Given the description of an element on the screen output the (x, y) to click on. 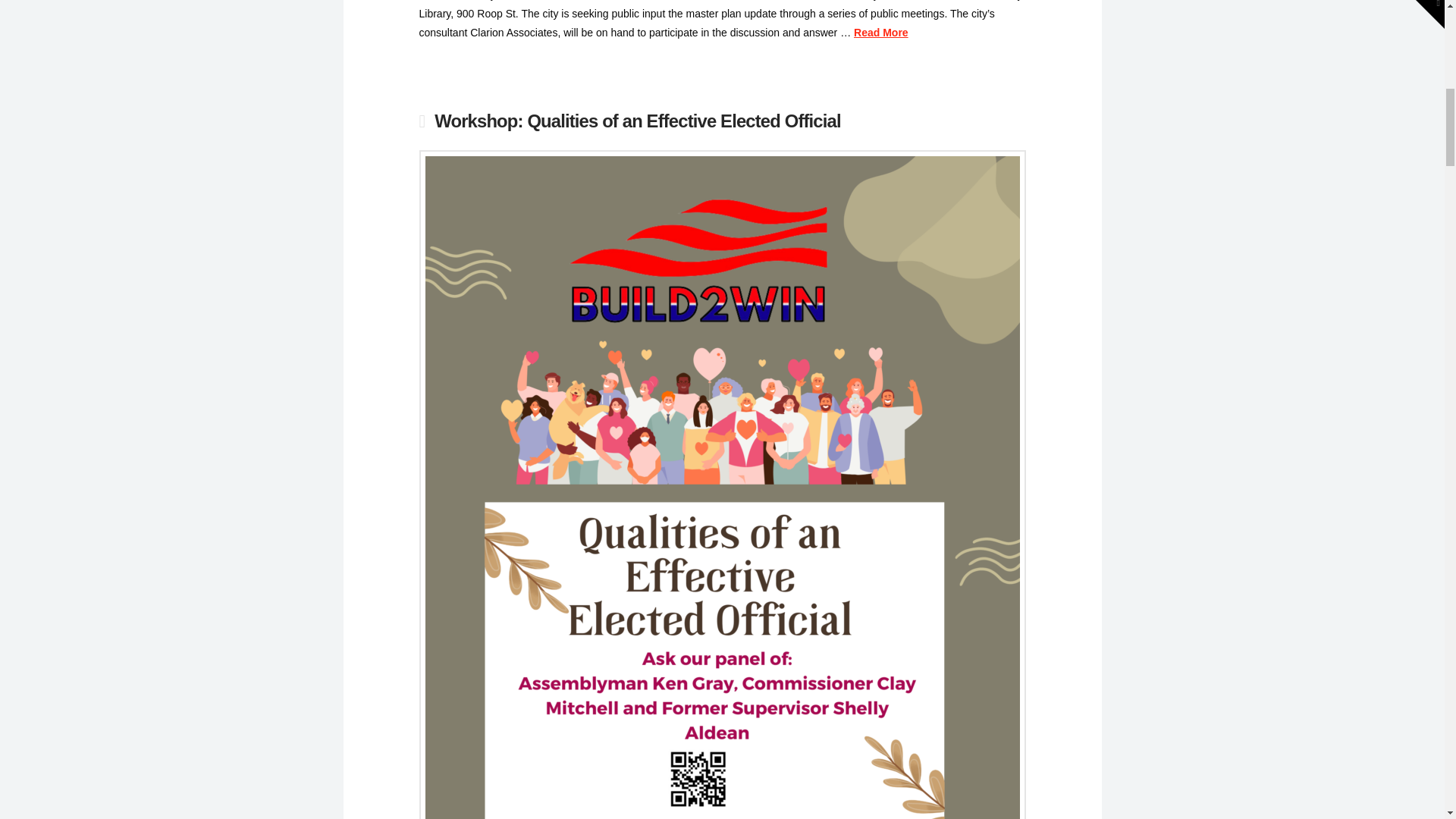
Workshop: Qualities of an Effective Elected Official (636, 120)
Read More (880, 32)
